Given the description of an element on the screen output the (x, y) to click on. 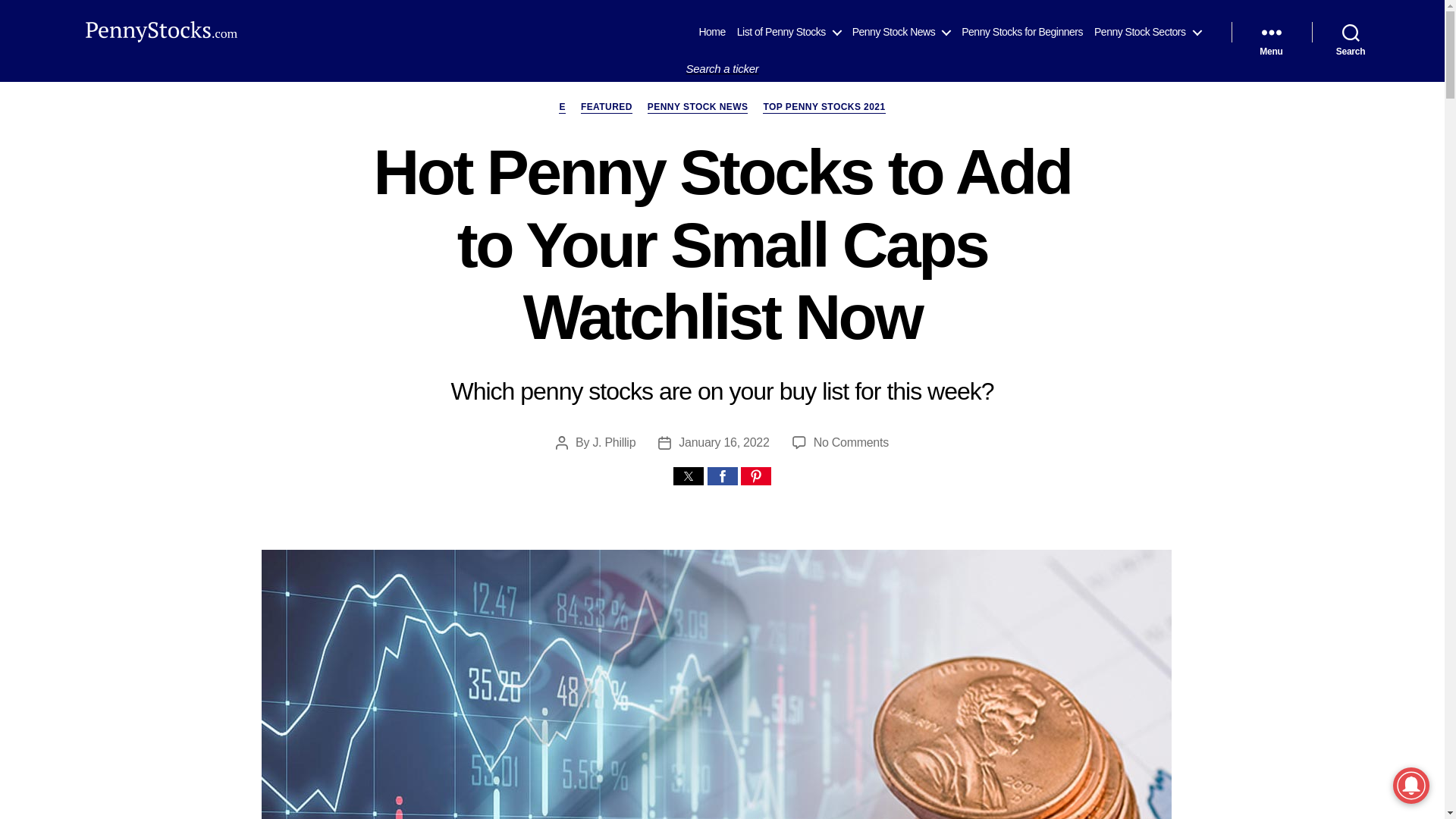
FEATURED (605, 107)
List of Penny Stocks (788, 31)
Home (711, 31)
J. Phillip (613, 441)
Penny Stocks for Beginners (1021, 31)
PENNY STOCK NEWS (697, 107)
Penny Stock News (900, 31)
Penny Stock Sectors (1146, 31)
TOP PENNY STOCKS 2021 (823, 107)
